Given the description of an element on the screen output the (x, y) to click on. 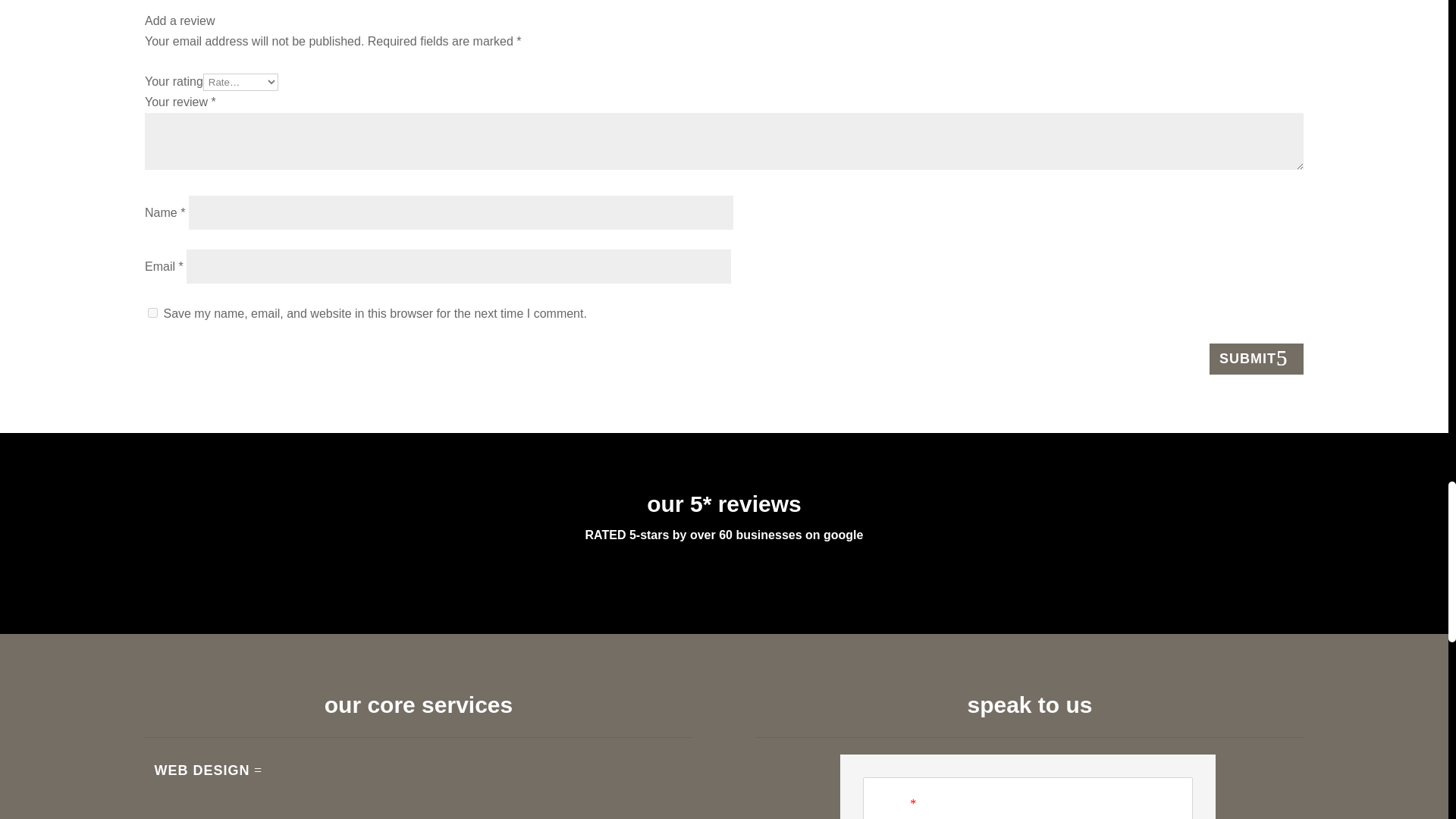
yes (152, 312)
Contact Form (1027, 786)
